Given the description of an element on the screen output the (x, y) to click on. 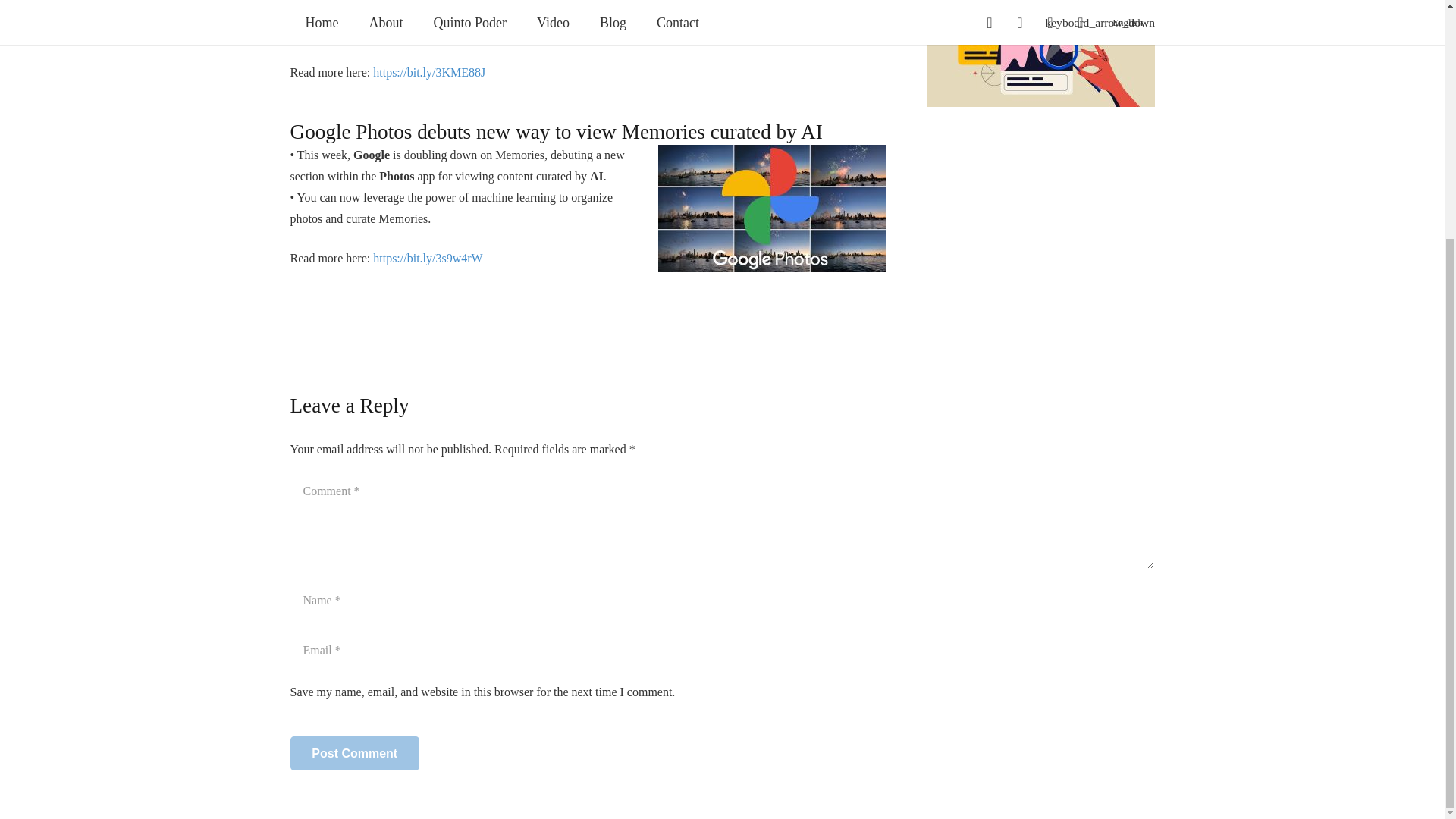
1 (296, 693)
Post Comment (354, 753)
